Given the description of an element on the screen output the (x, y) to click on. 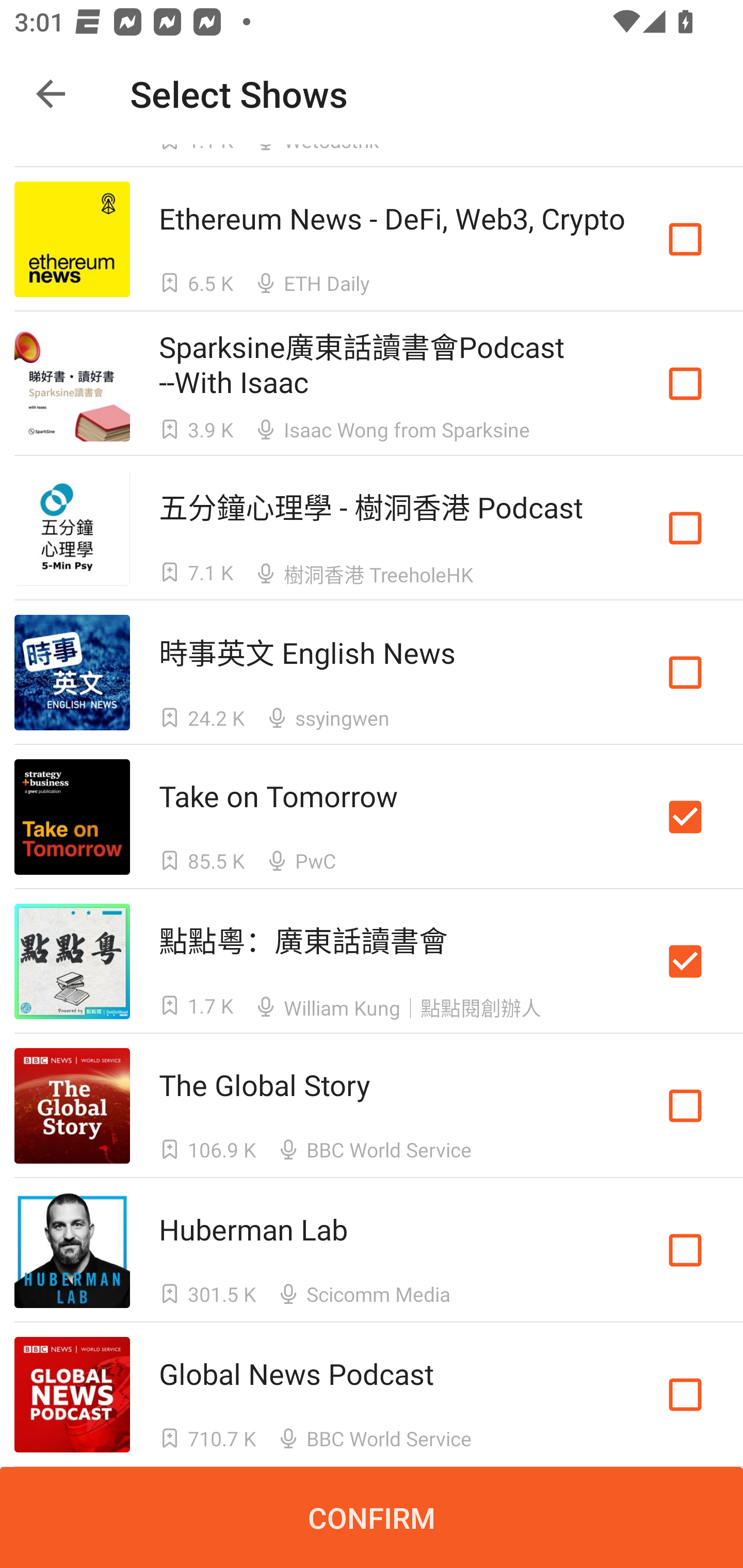
Navigate up (50, 93)
Take on Tomorrow Take on Tomorrow  85.5 K  PwC (371, 816)
CONFIRM (371, 1517)
